Given the description of an element on the screen output the (x, y) to click on. 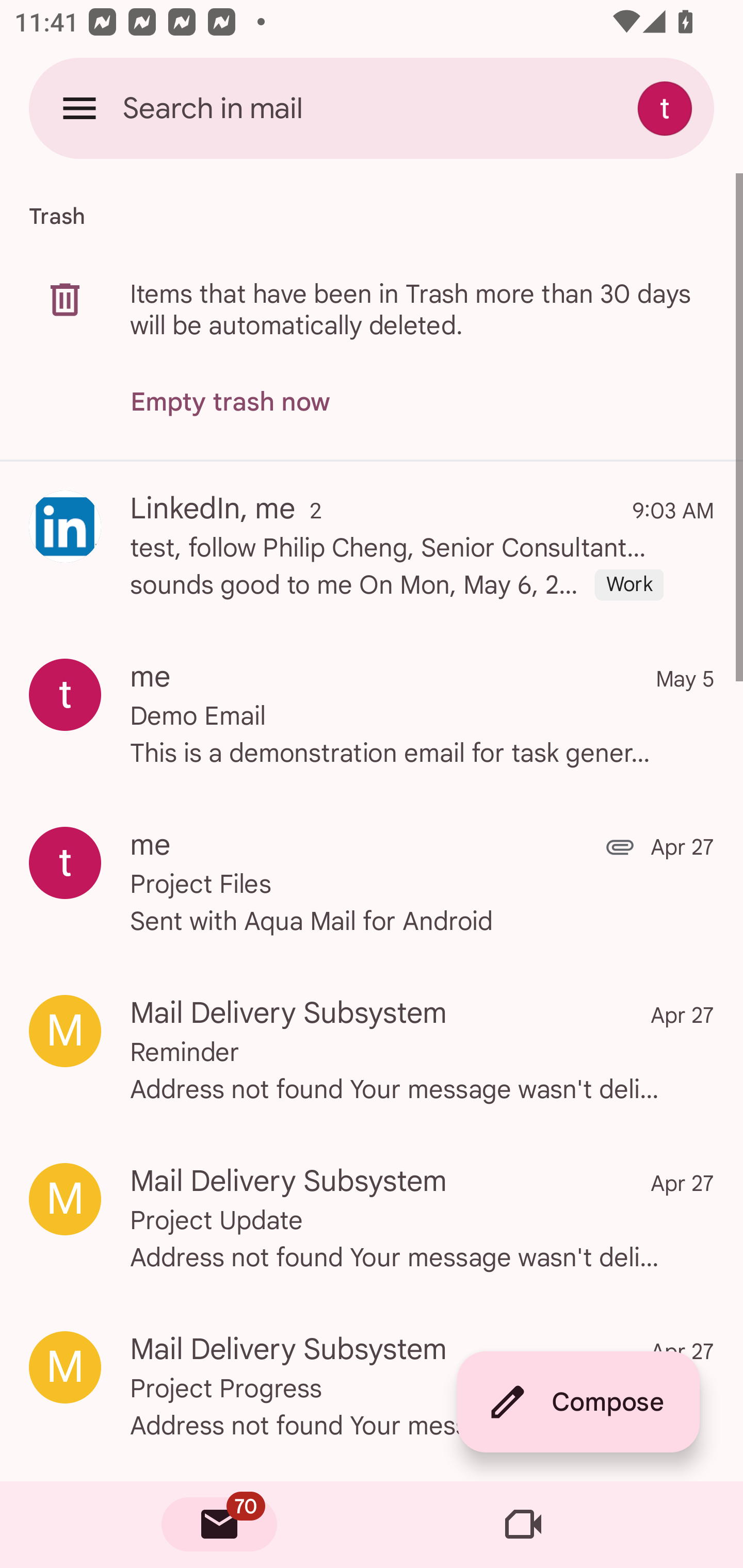
Open navigation drawer (79, 108)
Empty trash now (229, 402)
Compose (577, 1401)
Meet (523, 1524)
